Given the description of an element on the screen output the (x, y) to click on. 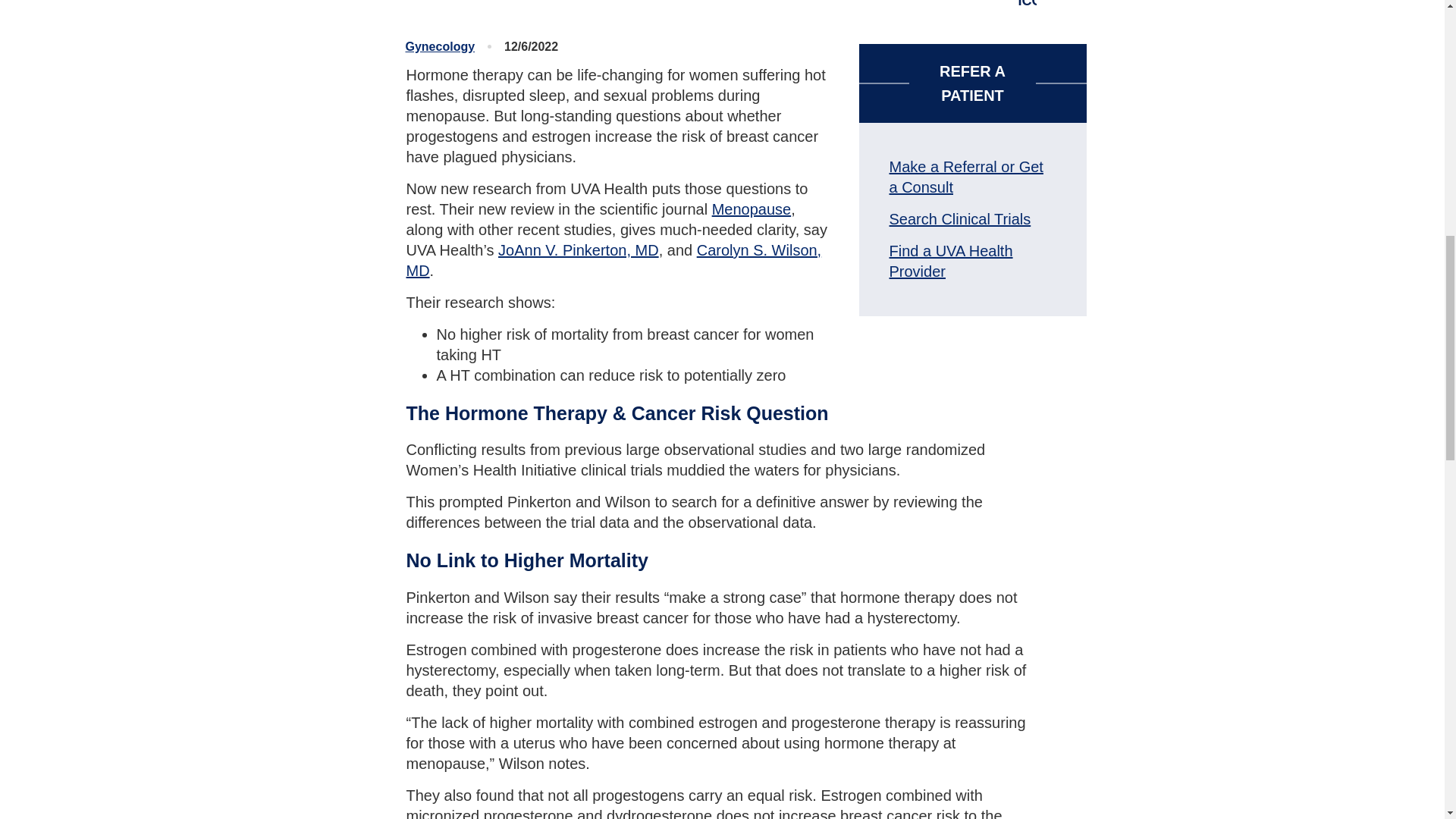
Search Clinical Trials (959, 218)
PRINT (1049, 4)
Find a UVA Health Provider (949, 261)
Make a Referral or Get a Consult (965, 176)
Carolyn S. Wilson, MD (614, 260)
Menopause (751, 208)
JoAnn V. Pinkerton, MD (578, 249)
Gynecology (439, 46)
